Given the description of an element on the screen output the (x, y) to click on. 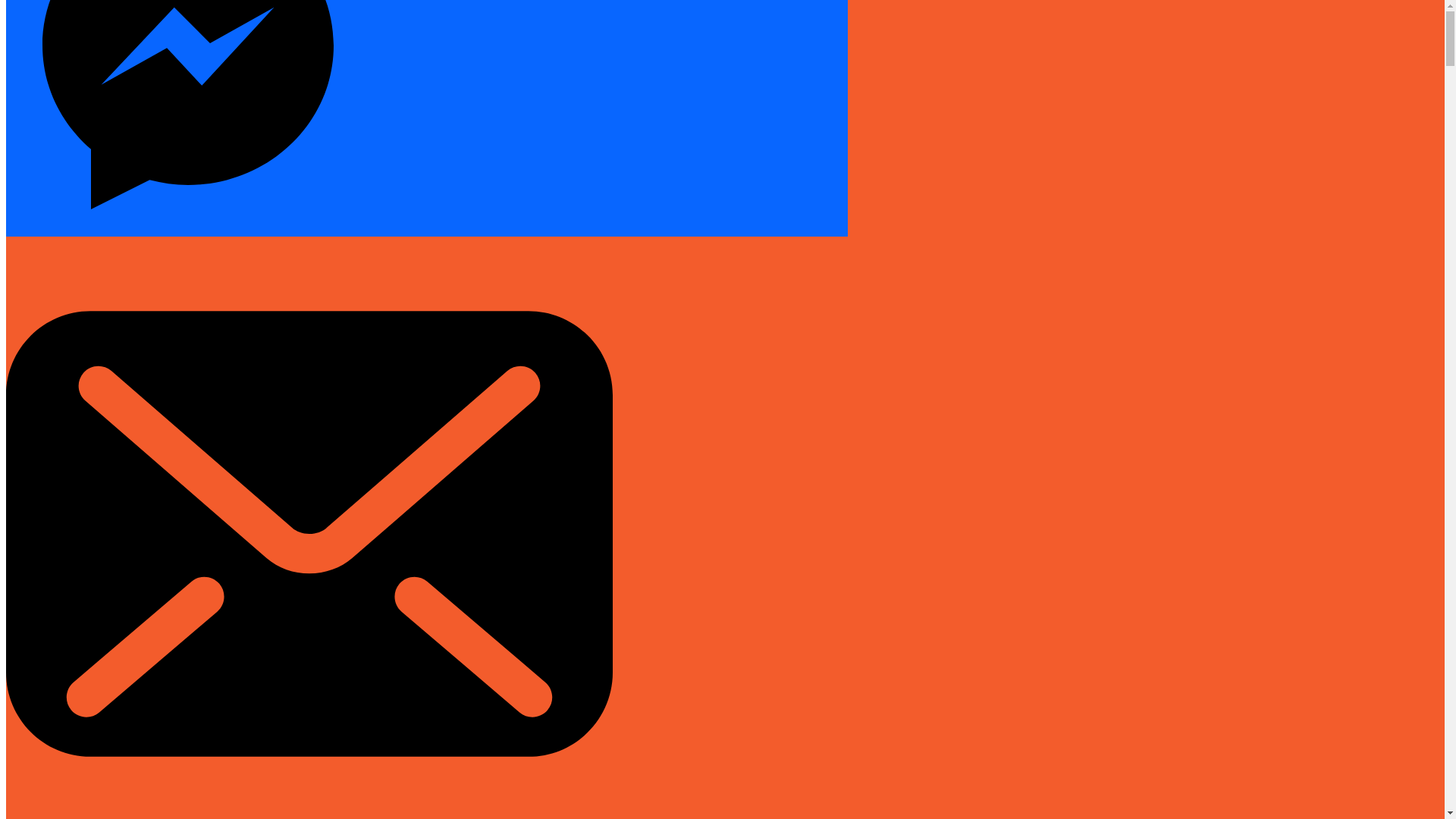
Easy rider from QUI NHON (139, 532)
Easy rider VietNam (118, 273)
Easy rider Nha Trang (123, 314)
Easy rider from PHONG NHA (145, 573)
Easy rider Phong Nha (126, 368)
Easy rider from HOI AN (129, 545)
Easy rider from HO CHI MINH (147, 422)
Easy rider Ha Giang (121, 395)
Booking Policy (79, 682)
Motorbike tours review (127, 641)
